Given the description of an element on the screen output the (x, y) to click on. 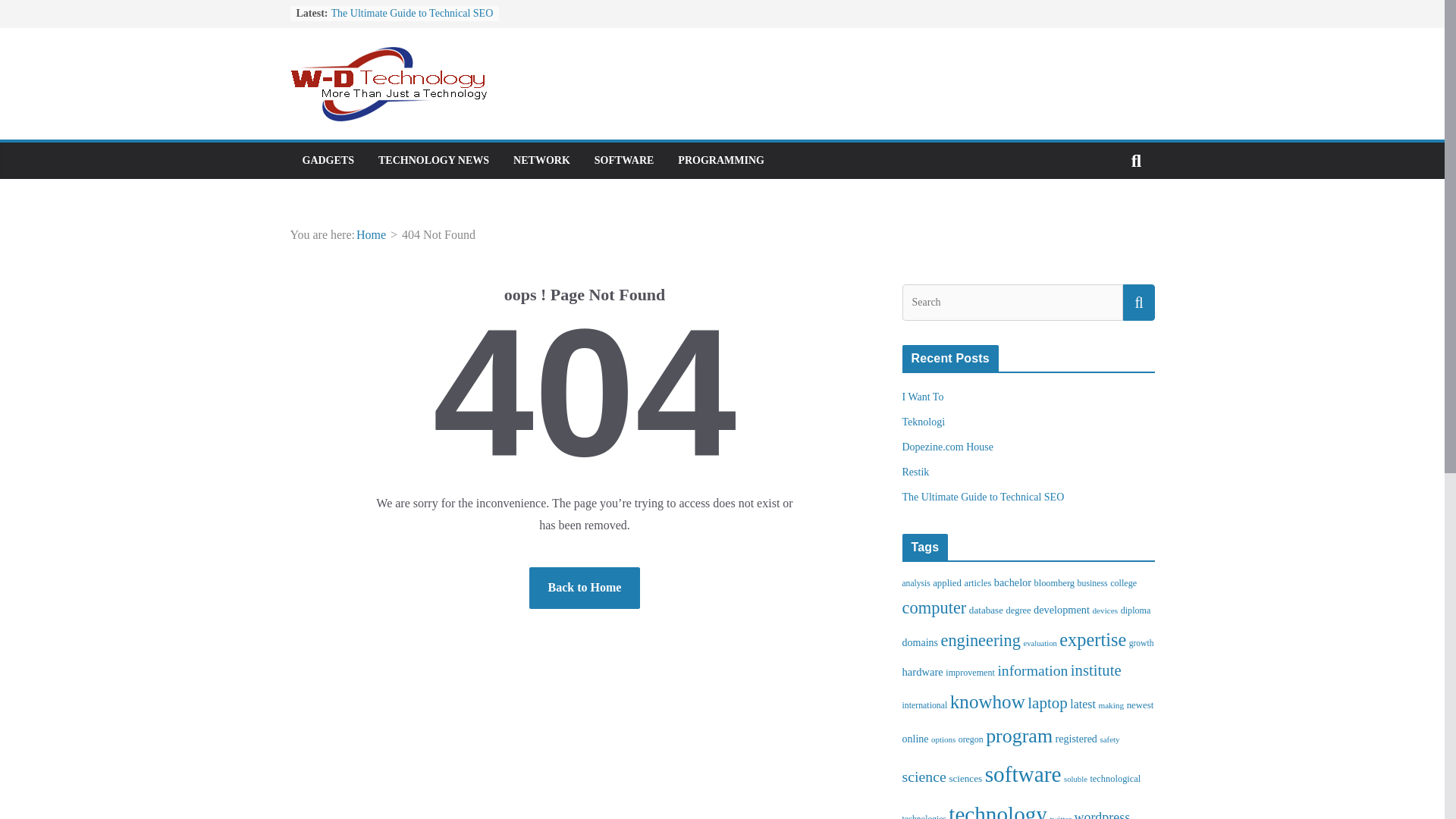
The Ultimate Guide to Technical SEO (411, 12)
GADGETS (327, 160)
bachelor (1012, 582)
Teknologi (923, 421)
Back to Home (584, 588)
degree (1018, 610)
I Want To (922, 396)
engineering (980, 640)
Home (370, 234)
growth (1141, 642)
TECHNOLOGY NEWS (433, 160)
database (986, 609)
business (1092, 583)
The Ultimate Guide to Technical SEO (983, 496)
computer (934, 607)
